Given the description of an element on the screen output the (x, y) to click on. 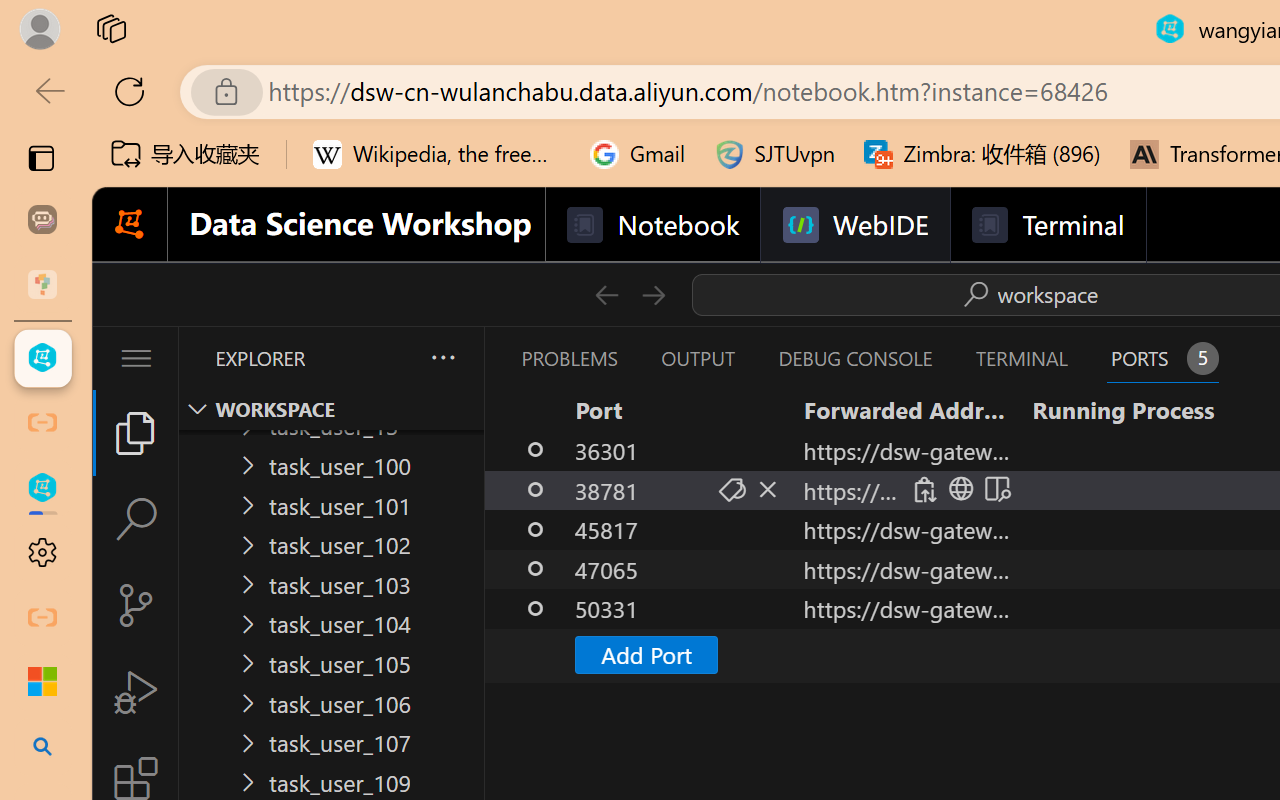
Preview in Editor (994, 489)
Application Menu (135, 358)
Class: actions-container (958, 489)
Go Back (Alt+LeftArrow) (605, 294)
Explorer actions (390, 358)
Microsoft security help and learning (42, 681)
Set Port Label (F2) (730, 489)
Wikipedia, the free encyclopedia (437, 154)
Go Forward (Alt+RightArrow) (652, 294)
Notebook (652, 225)
